Given the description of an element on the screen output the (x, y) to click on. 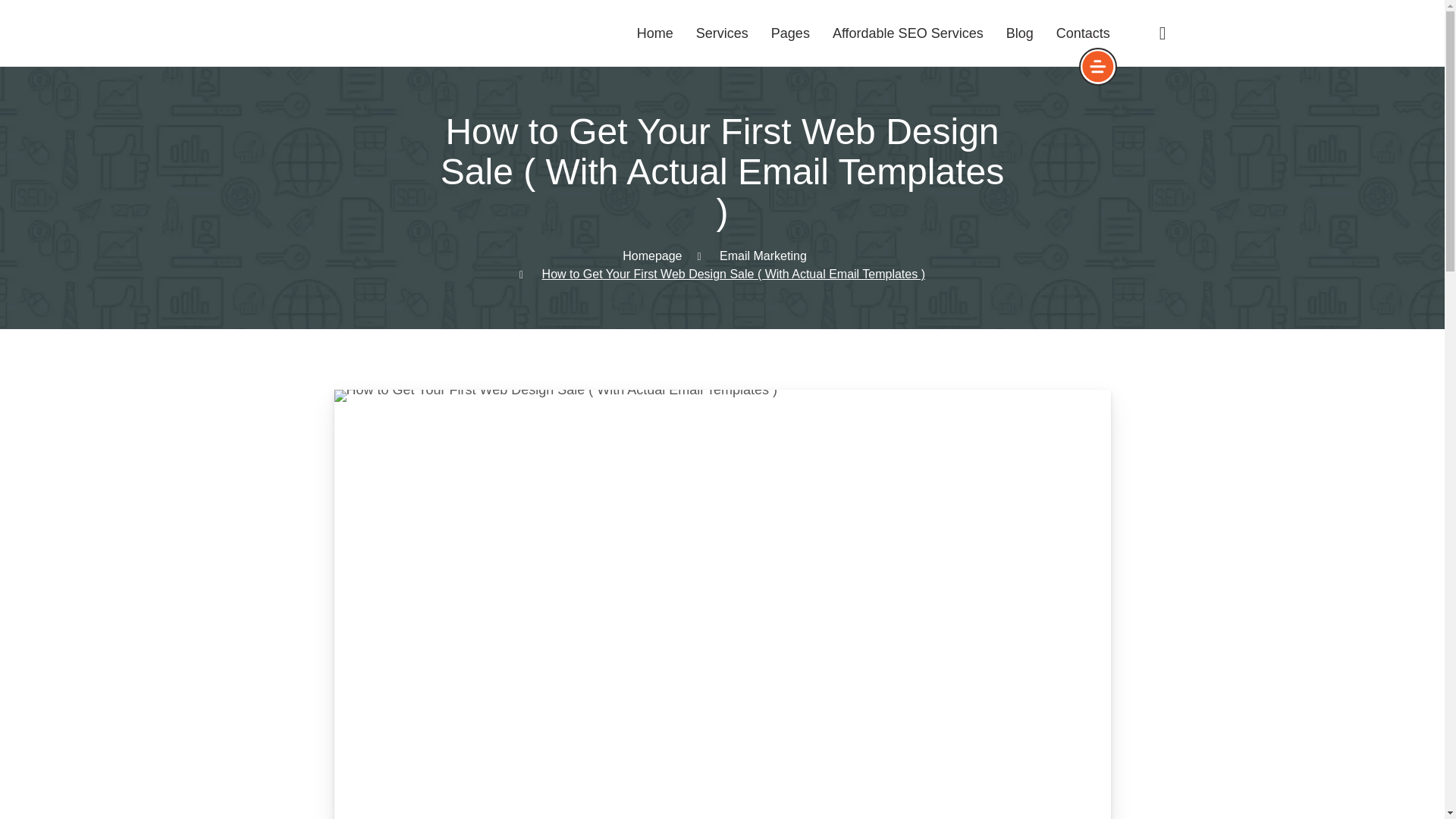
Homepage (652, 255)
Contacts (1083, 33)
Pages (790, 33)
Affordable SEO Services (908, 33)
Email Marketing (762, 255)
Services (721, 33)
Blog (1019, 33)
Home (654, 33)
